Given the description of an element on the screen output the (x, y) to click on. 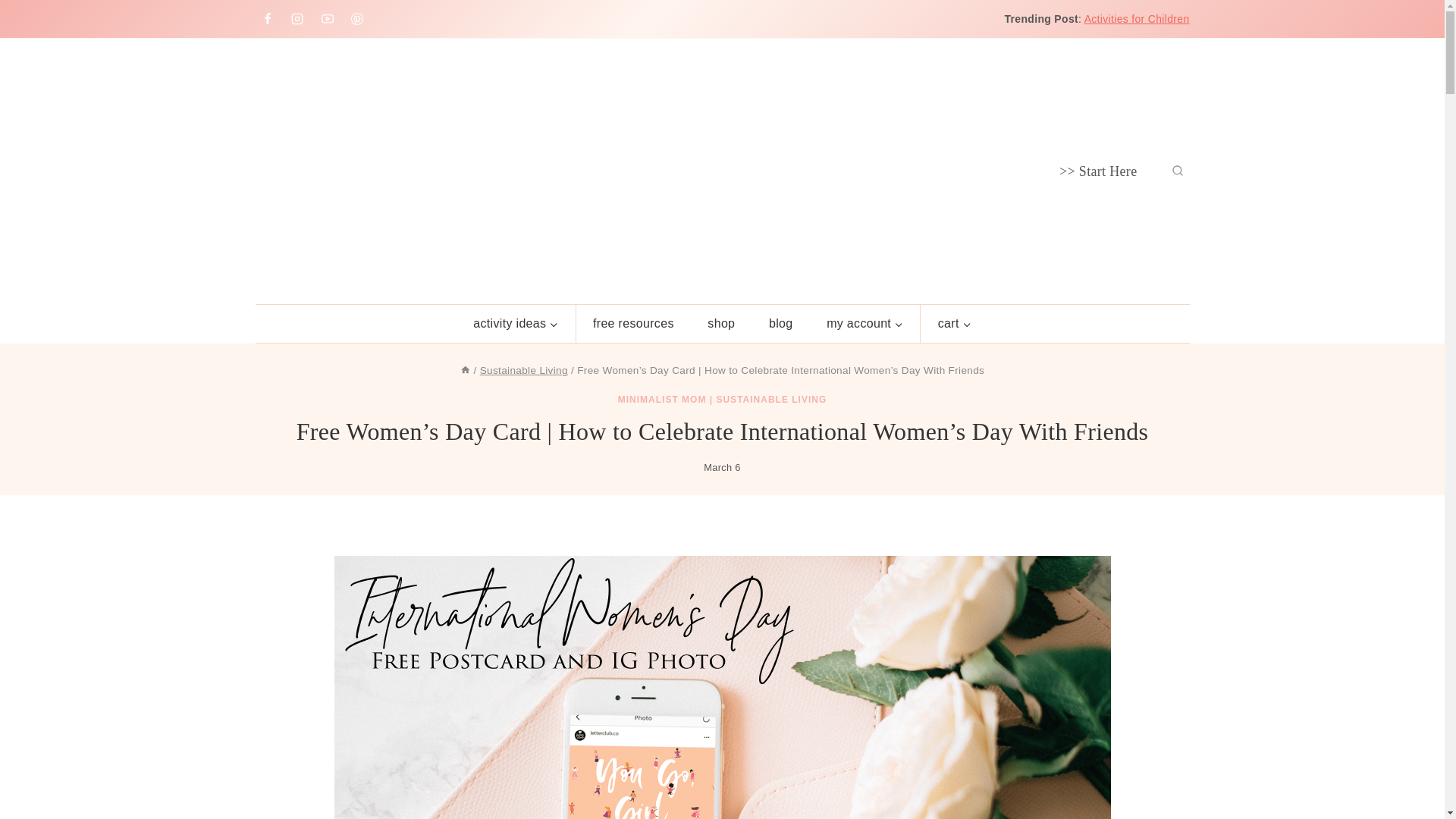
Home (465, 369)
free resources (633, 323)
my account (864, 323)
Sustainable Living (523, 369)
SUSTAINABLE LIVING (771, 398)
cart (954, 323)
blog (780, 323)
MINIMALIST MOM (661, 398)
activity ideas (516, 323)
shop (721, 323)
